Given the description of an element on the screen output the (x, y) to click on. 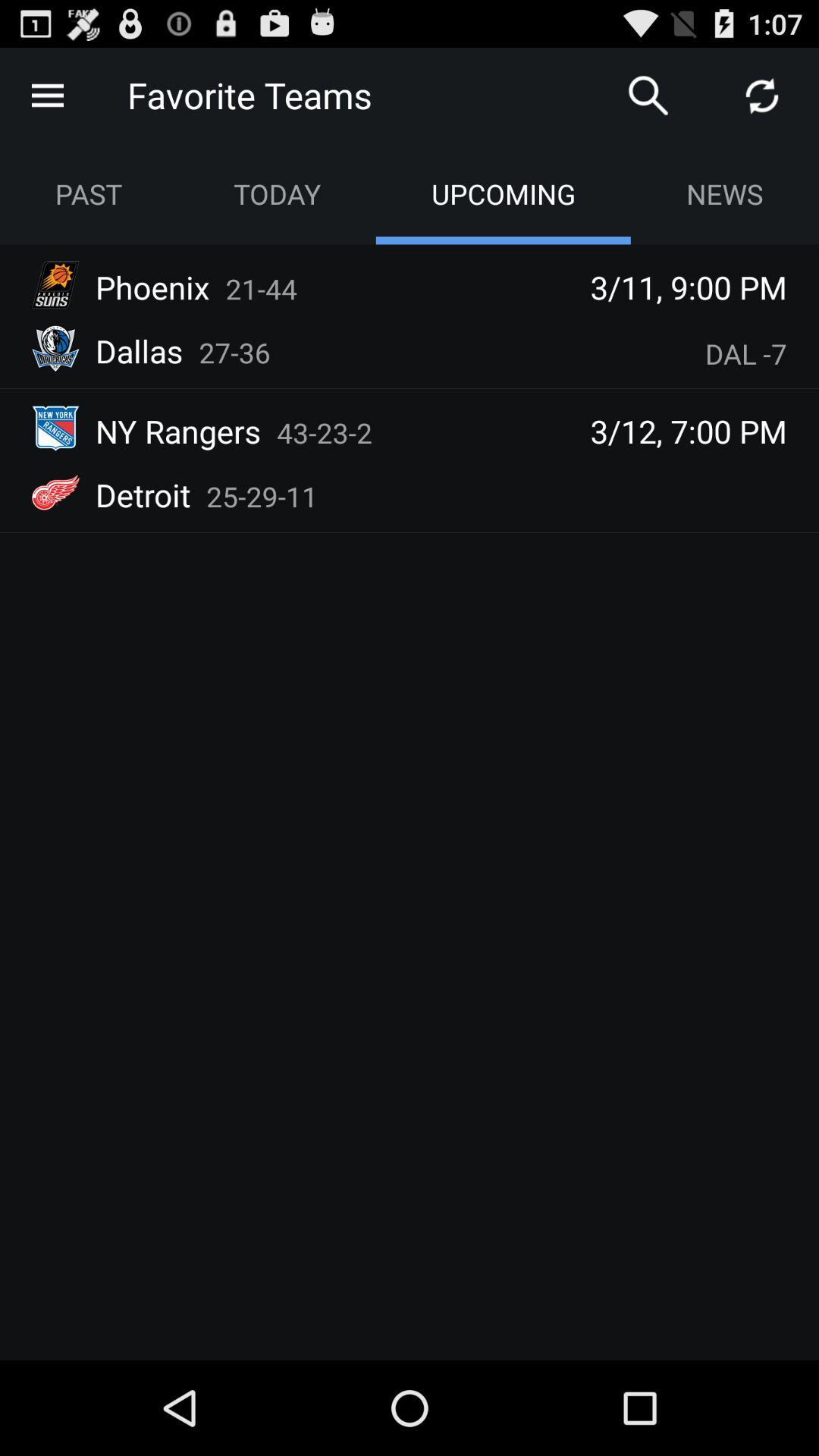
click search icon (648, 95)
